Given the description of an element on the screen output the (x, y) to click on. 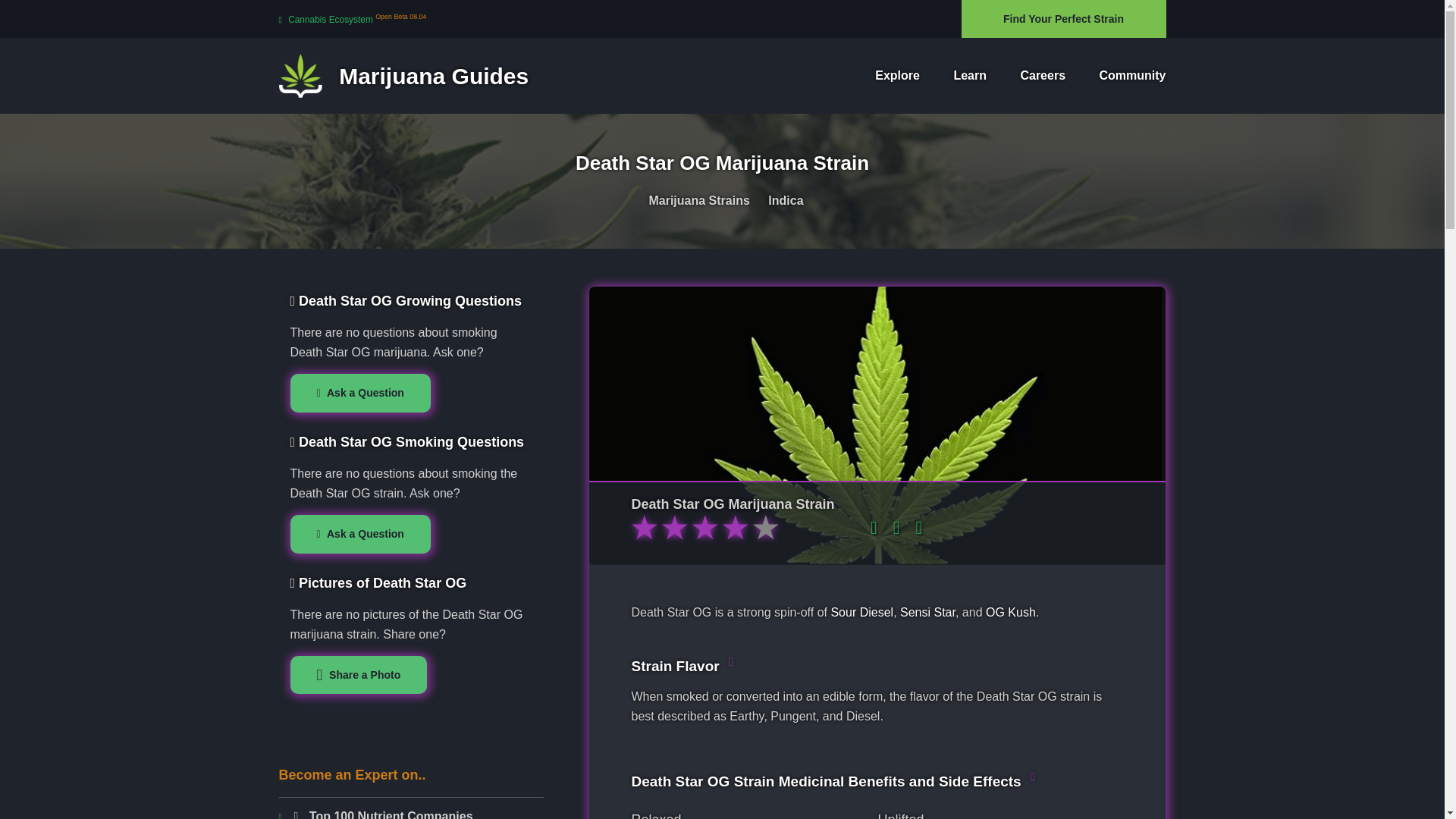
Cannabis Ecosystem Open Beta 08.04 (352, 19)
Marijuana Guides (404, 82)
Find Your Perfect Strain (1063, 18)
Marijuana Guides Home (404, 74)
